Given the description of an element on the screen output the (x, y) to click on. 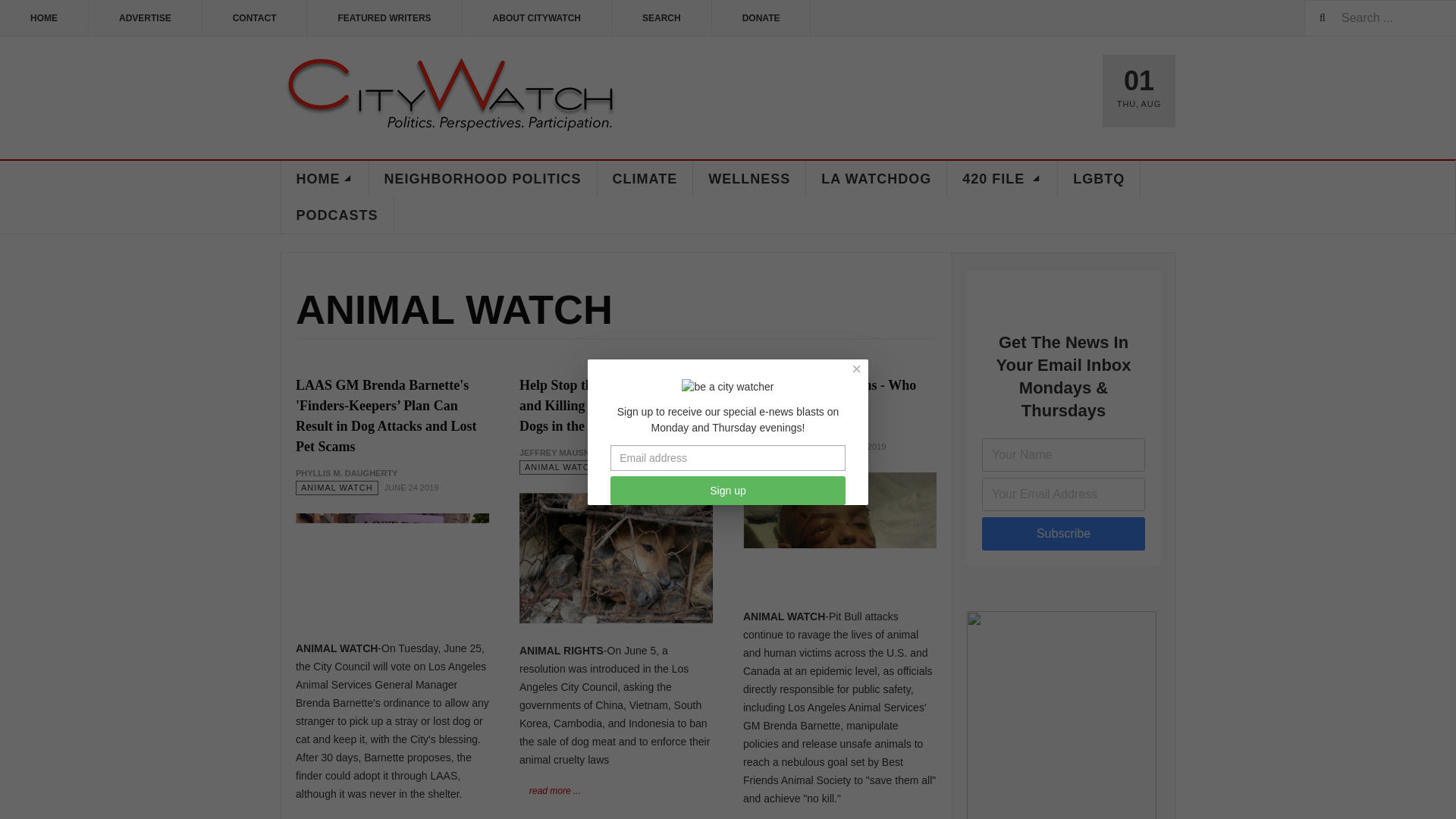
HOME (324, 178)
Pit Bull Attack Victims - Who Speaks for Them? (828, 395)
Category:  (560, 467)
ABOUT CITYWATCH (537, 18)
Category:  (336, 487)
HOME (44, 18)
PODCASTS (337, 215)
Category:  (783, 446)
Written by  (793, 432)
LGBTQ (1099, 178)
